Given the description of an element on the screen output the (x, y) to click on. 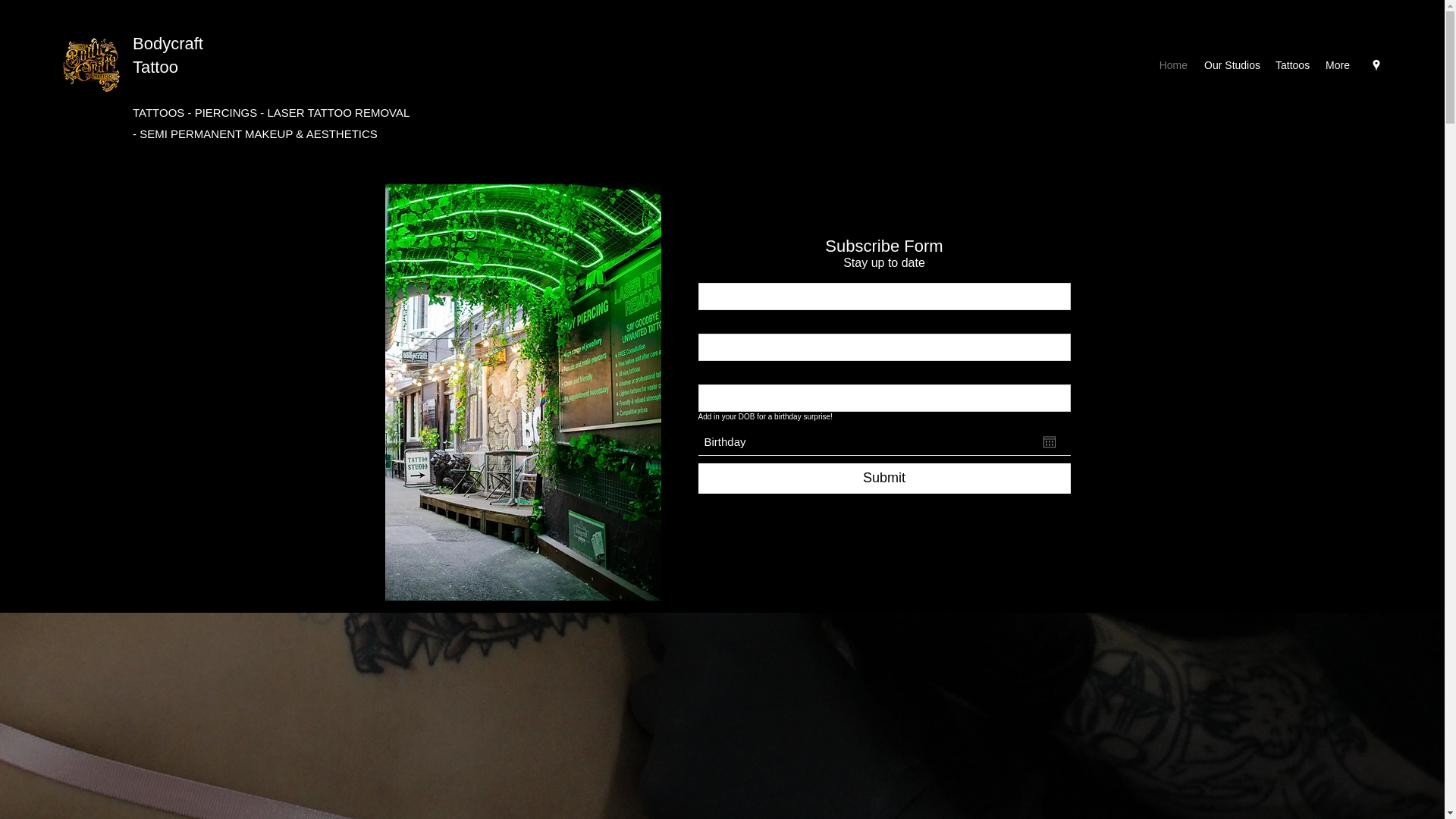
Bodycraft Tattoo (167, 55)
Our Studios (1231, 65)
Home (1173, 65)
Tattoos (1292, 65)
Submit (883, 478)
